Given the description of an element on the screen output the (x, y) to click on. 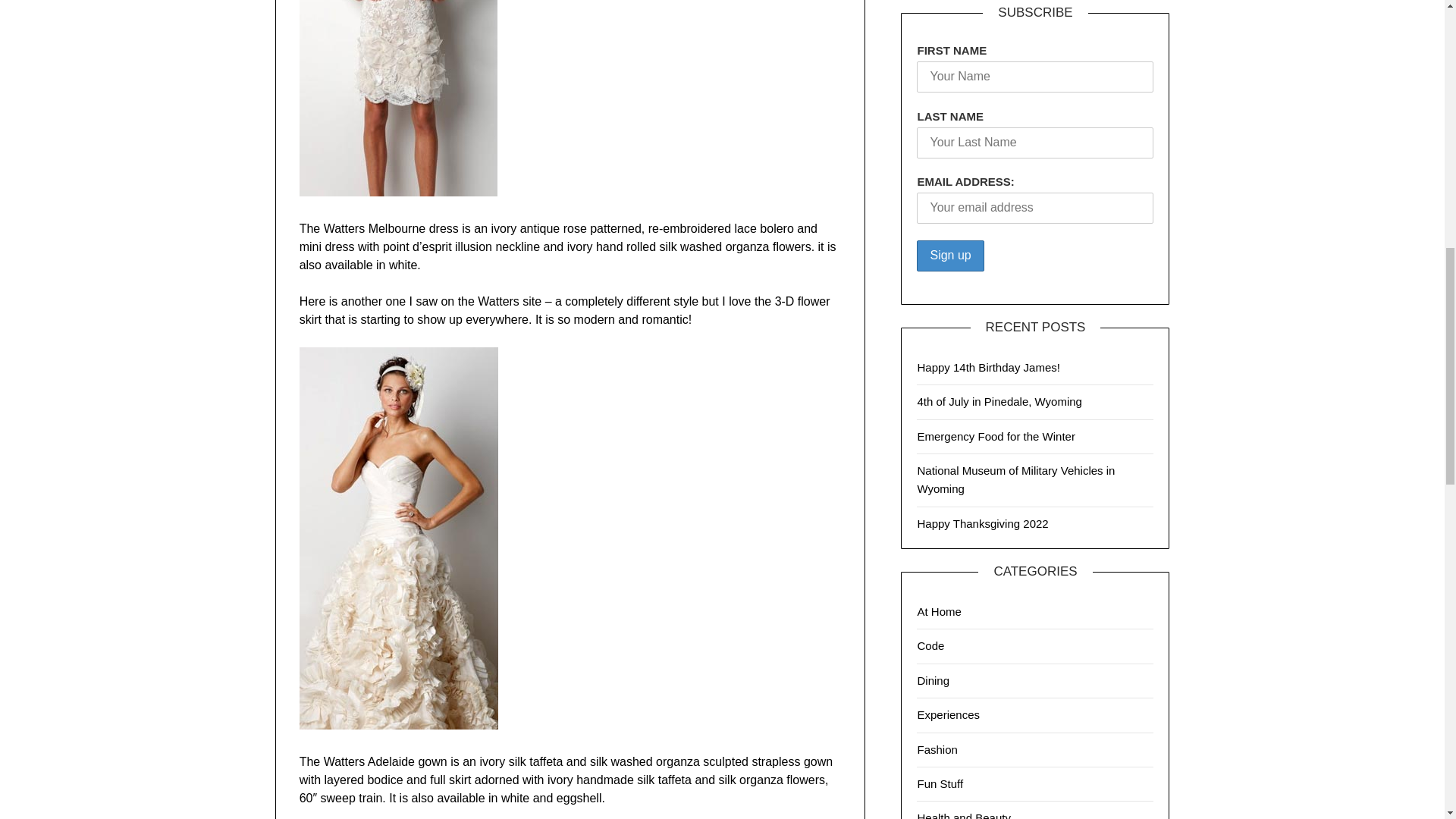
Fashion (936, 748)
Sign up (950, 255)
At Home (938, 611)
Happy Thanksgiving 2022 (982, 522)
Emergency Food for the Winter (995, 436)
Sign up (950, 255)
Experiences (948, 714)
Happy 14th Birthday James! (988, 367)
Health and Beauty (963, 815)
National Museum of Military Vehicles in Wyoming (1016, 479)
